Given the description of an element on the screen output the (x, y) to click on. 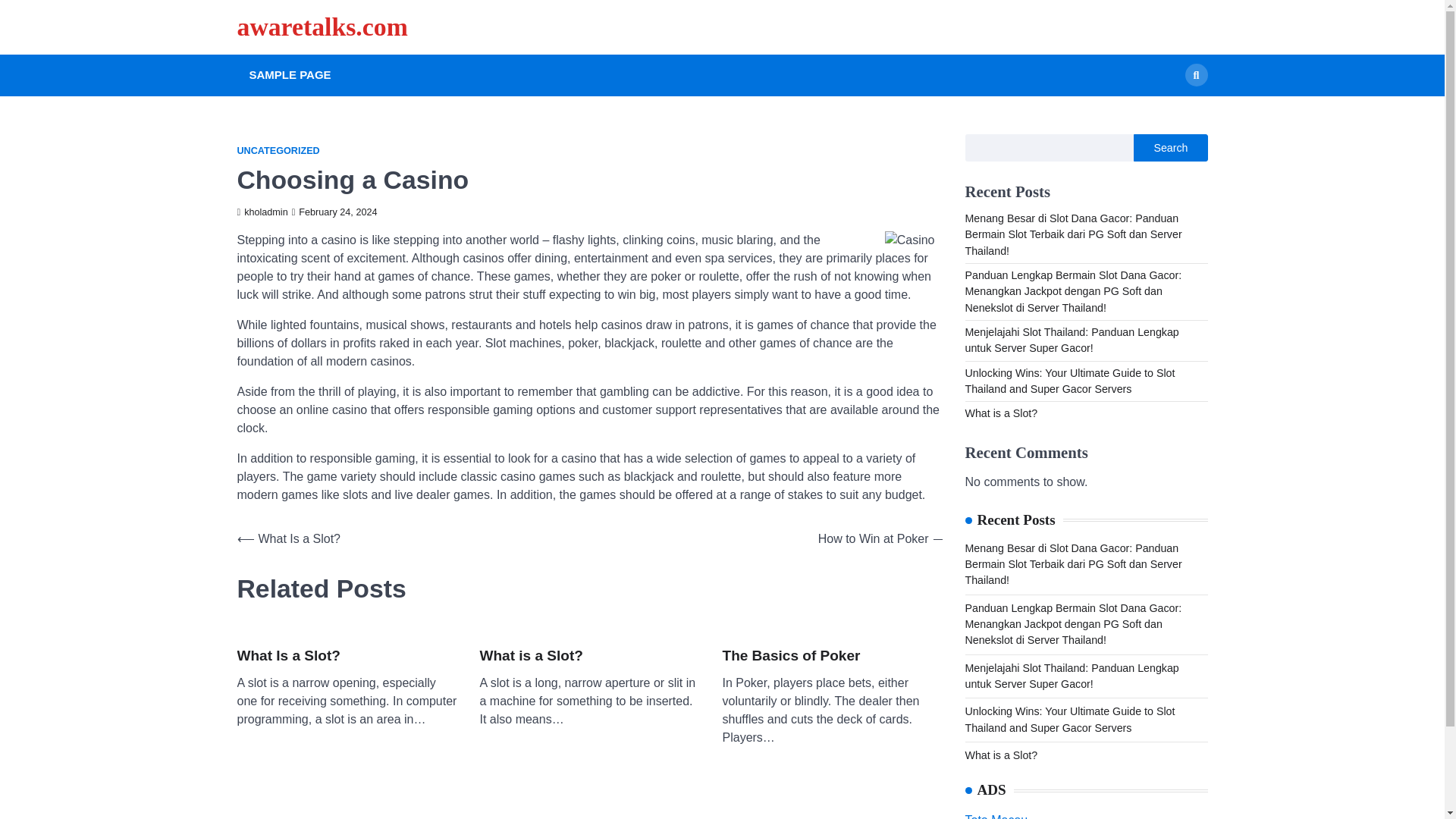
What is a Slot? (530, 656)
Search (1170, 147)
The Basics of Poker (791, 656)
awaretalks.com (321, 26)
February 24, 2024 (334, 212)
SAMPLE PAGE (289, 75)
What is a Slot? (999, 413)
Search (1196, 74)
Toto Macau (995, 816)
UNCATEGORIZED (276, 151)
